Given the description of an element on the screen output the (x, y) to click on. 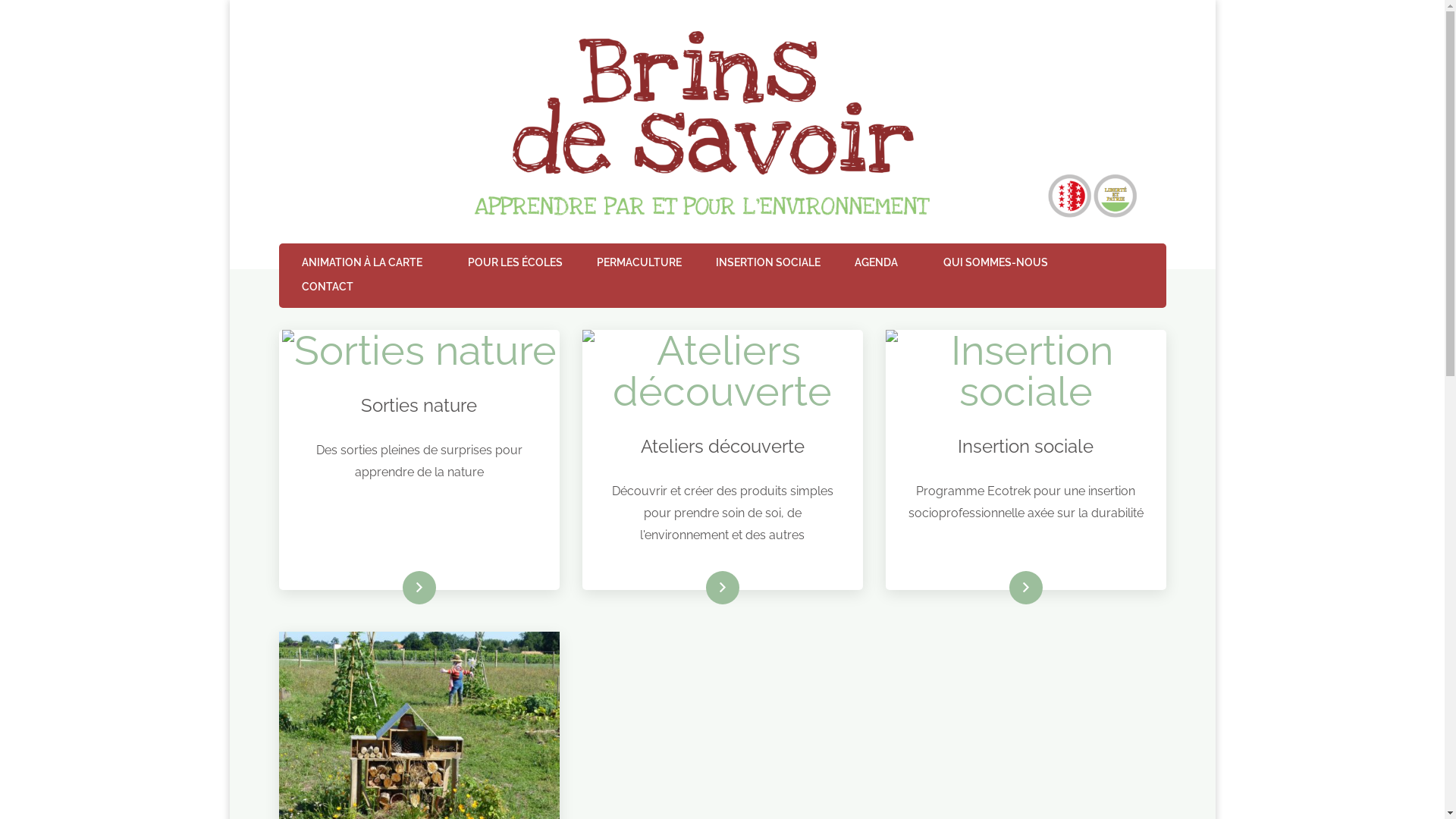
En savoir plus Element type: text (418, 588)
INSERTION SOCIALE Element type: text (767, 263)
PERMACULTURE Element type: text (638, 263)
Association Brins de savoir Element type: text (348, 31)
QUI SOMMES-NOUS Element type: text (995, 263)
AGENDA Element type: text (875, 263)
En savoir plus Element type: text (1025, 588)
CONTACT Element type: text (327, 287)
En savoir plus Element type: text (721, 588)
